Given the description of an element on the screen output the (x, y) to click on. 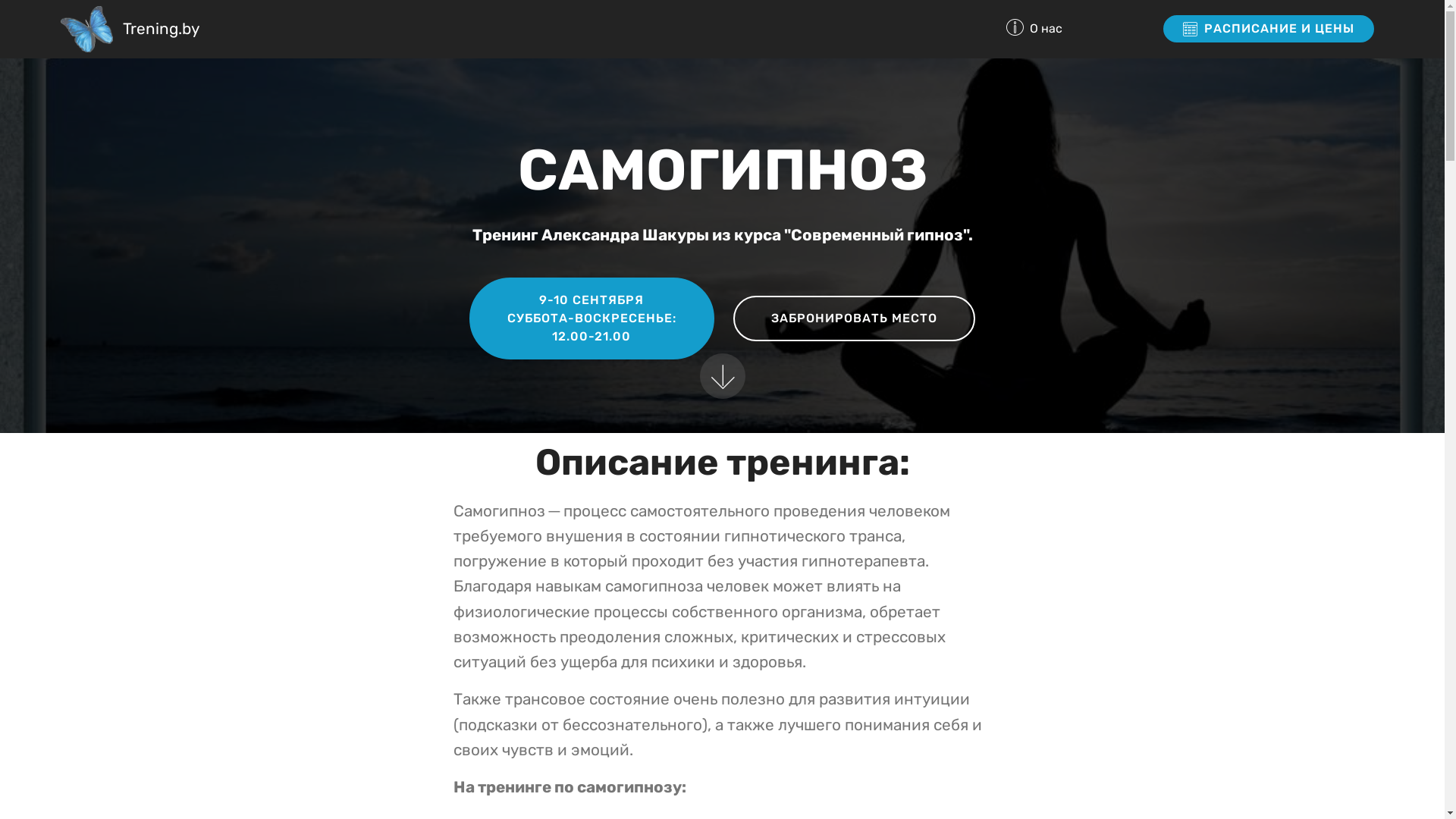
Trening.by Element type: text (160, 28)
